Given the description of an element on the screen output the (x, y) to click on. 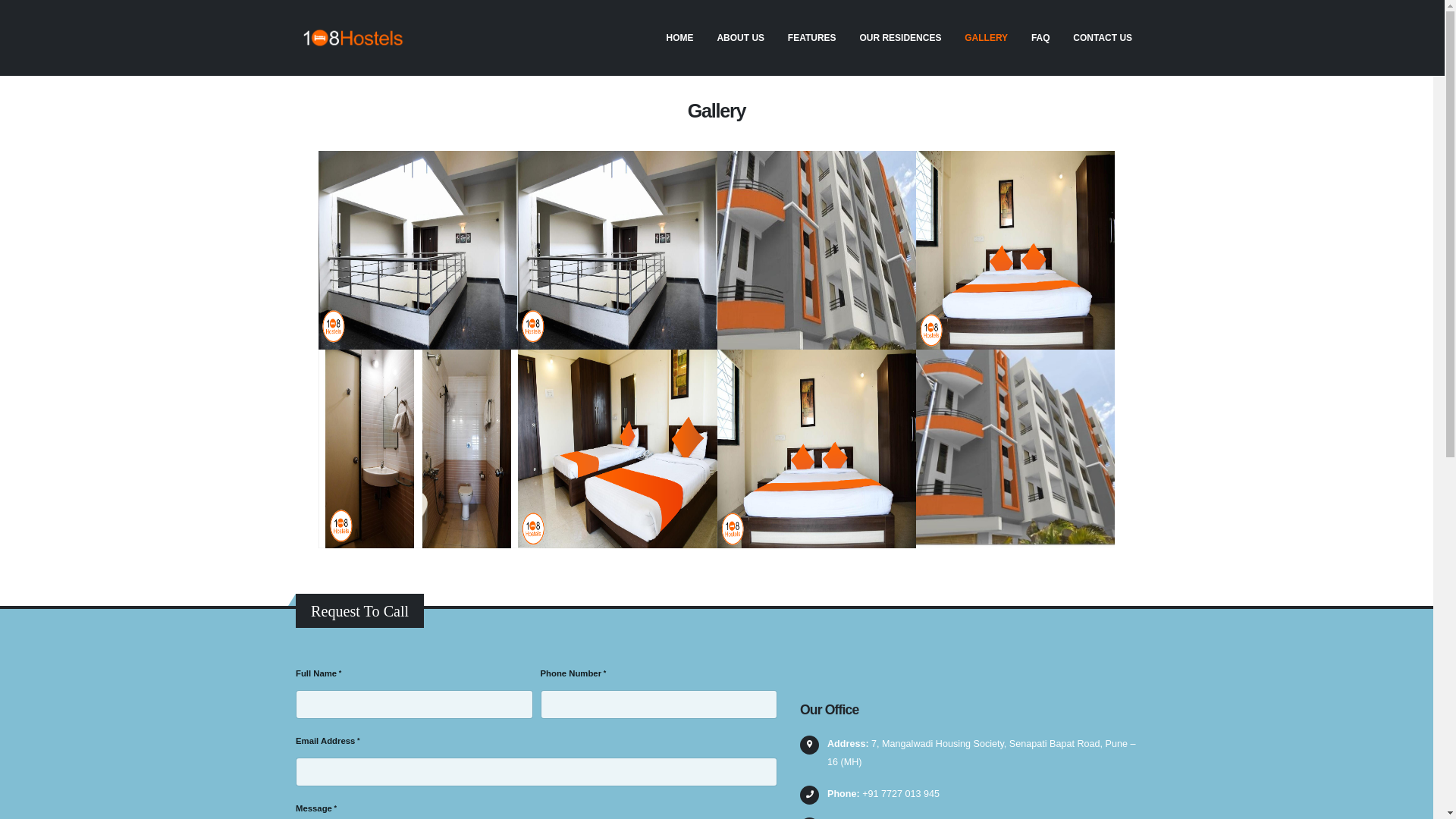
OUR RESIDENCES Element type: text (900, 37)
FAQ Element type: text (1040, 37)
CONTACT US Element type: text (1102, 37)
FEATURES Element type: text (811, 37)
ABOUT US Element type: text (740, 37)
HOME Element type: text (679, 37)
GALLERY Element type: text (986, 37)
